Given the description of an element on the screen output the (x, y) to click on. 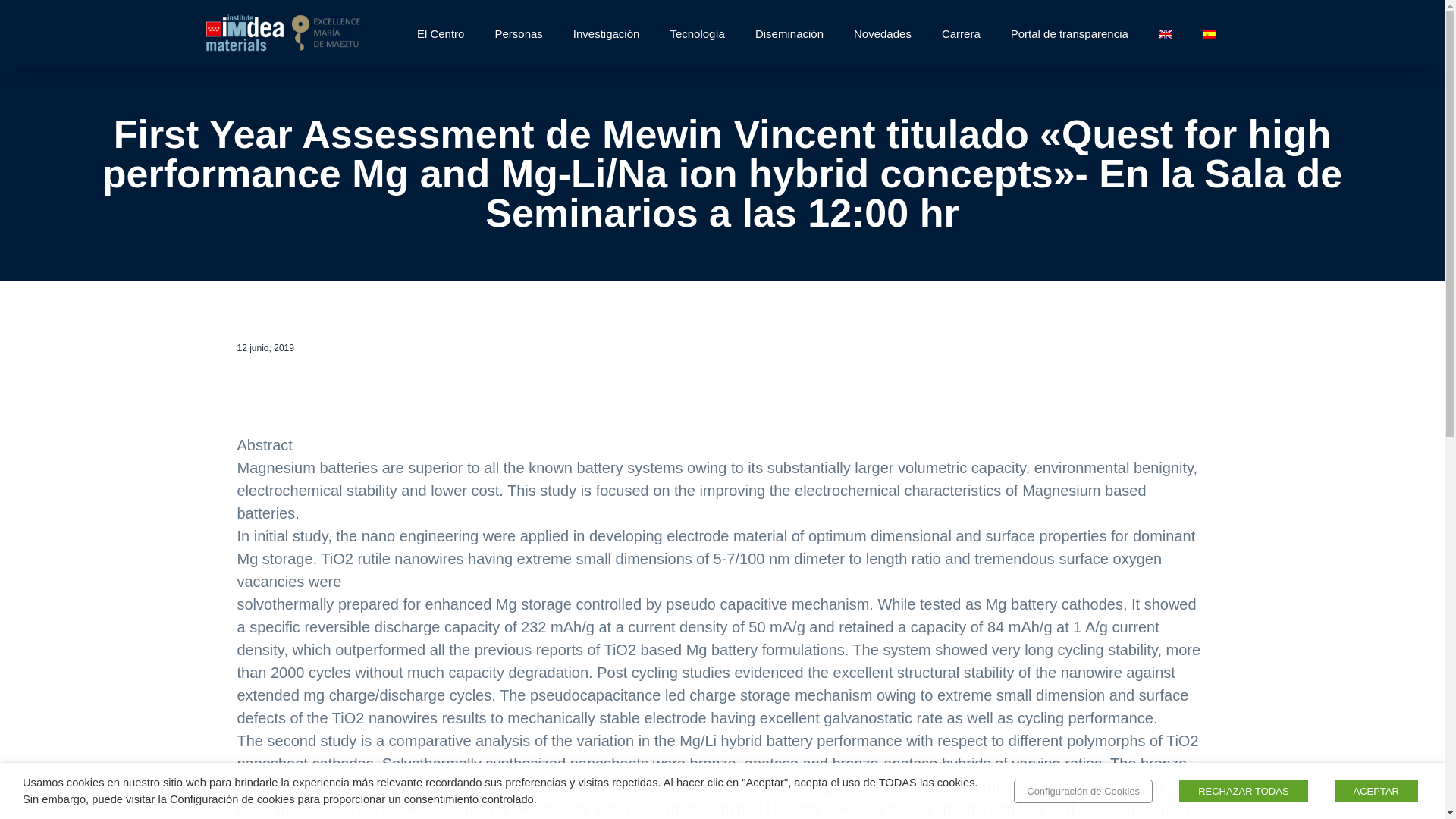
El Centro (440, 33)
Personas (518, 33)
